Given the description of an element on the screen output the (x, y) to click on. 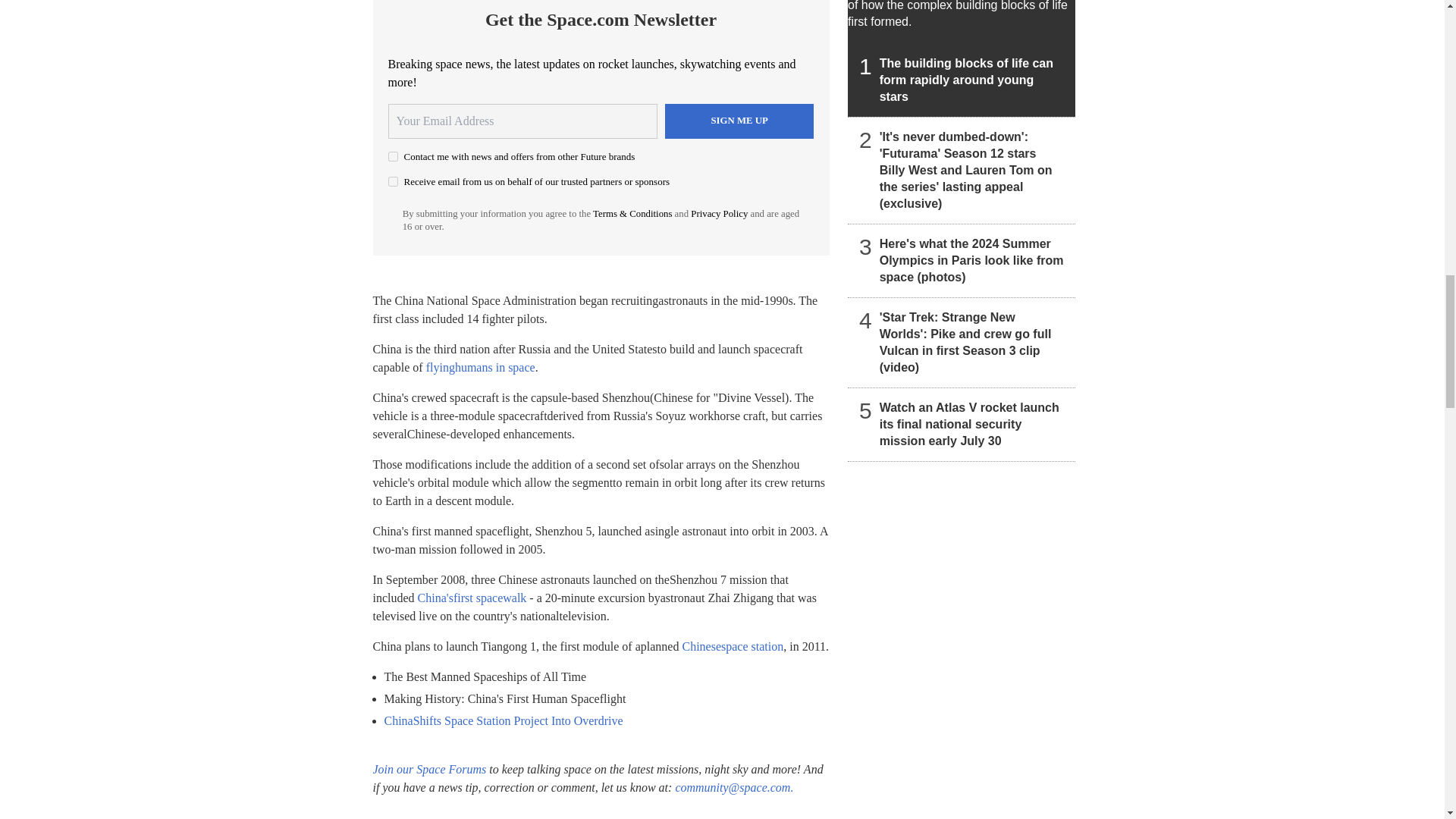
Sign me up (739, 121)
on (392, 156)
on (392, 181)
